Given the description of an element on the screen output the (x, y) to click on. 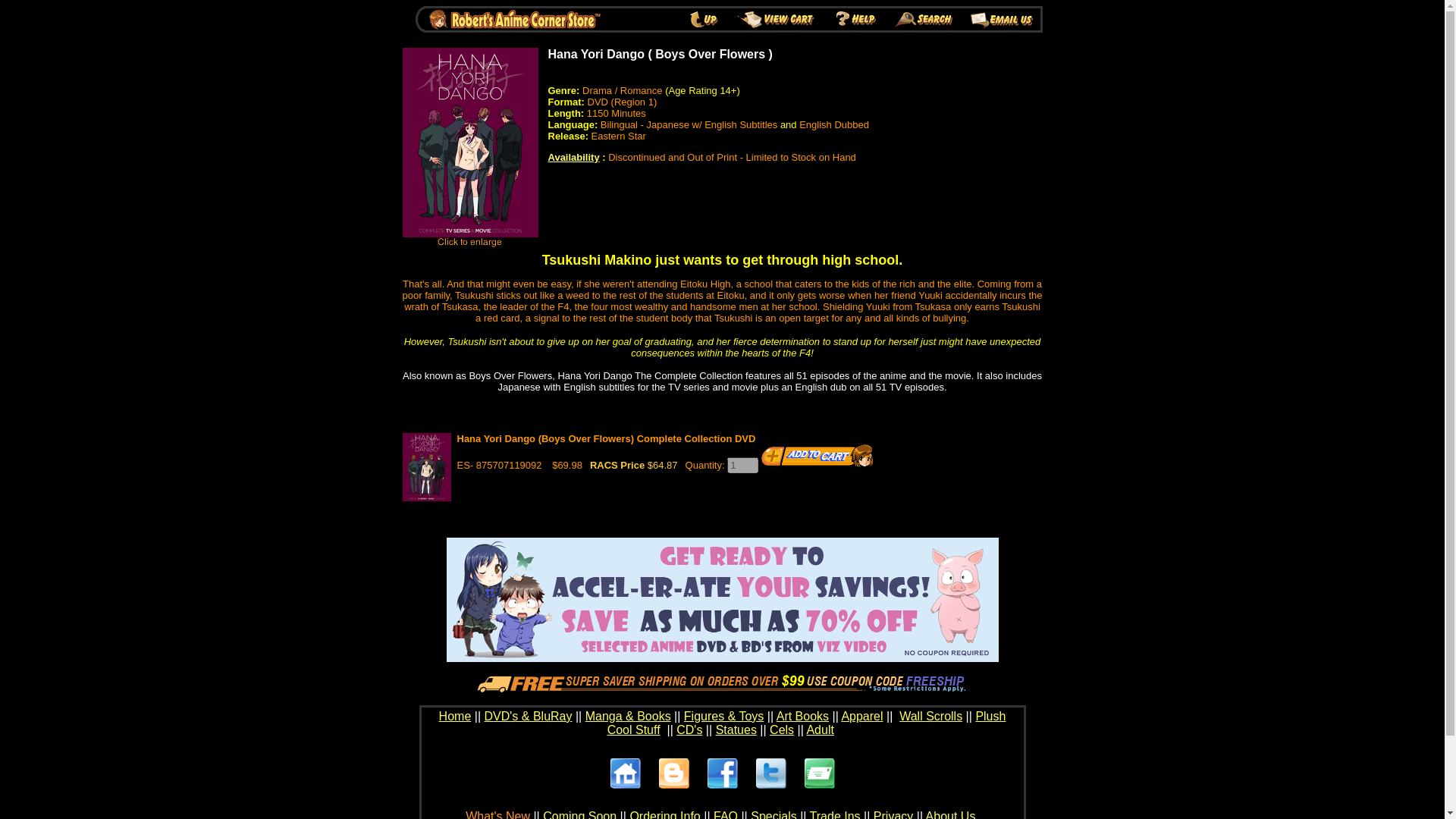
Privacy (892, 814)
Plush (990, 716)
Ordering Info (664, 814)
Statues (736, 729)
Coming Soon (579, 814)
Cels (781, 729)
Trade Ins (834, 814)
Art Books (802, 716)
Apparel (861, 716)
Adult (819, 729)
Home (455, 716)
Cool Stuff (806, 736)
About Us (950, 814)
Wall Scrolls (930, 716)
1 (742, 465)
